Given the description of an element on the screen output the (x, y) to click on. 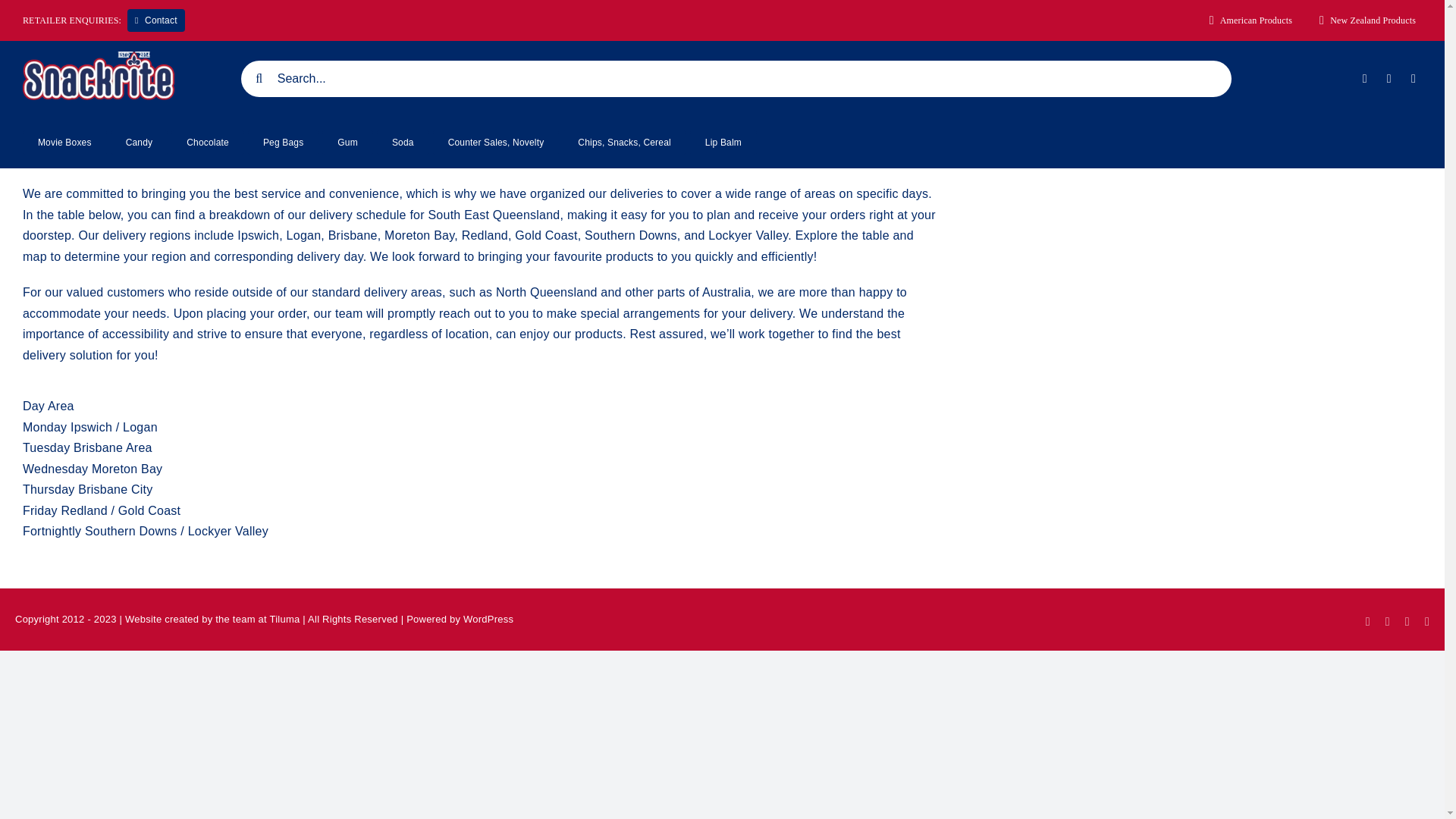
Candy (139, 142)
Gum (346, 142)
Chocolate (207, 142)
Movie Boxes (64, 142)
Counter Sales, Novelty (495, 142)
Chips, Snacks, Cereal (623, 142)
Contact (156, 20)
Soda (403, 142)
Log In (1347, 255)
American Products (1251, 20)
